Given the description of an element on the screen output the (x, y) to click on. 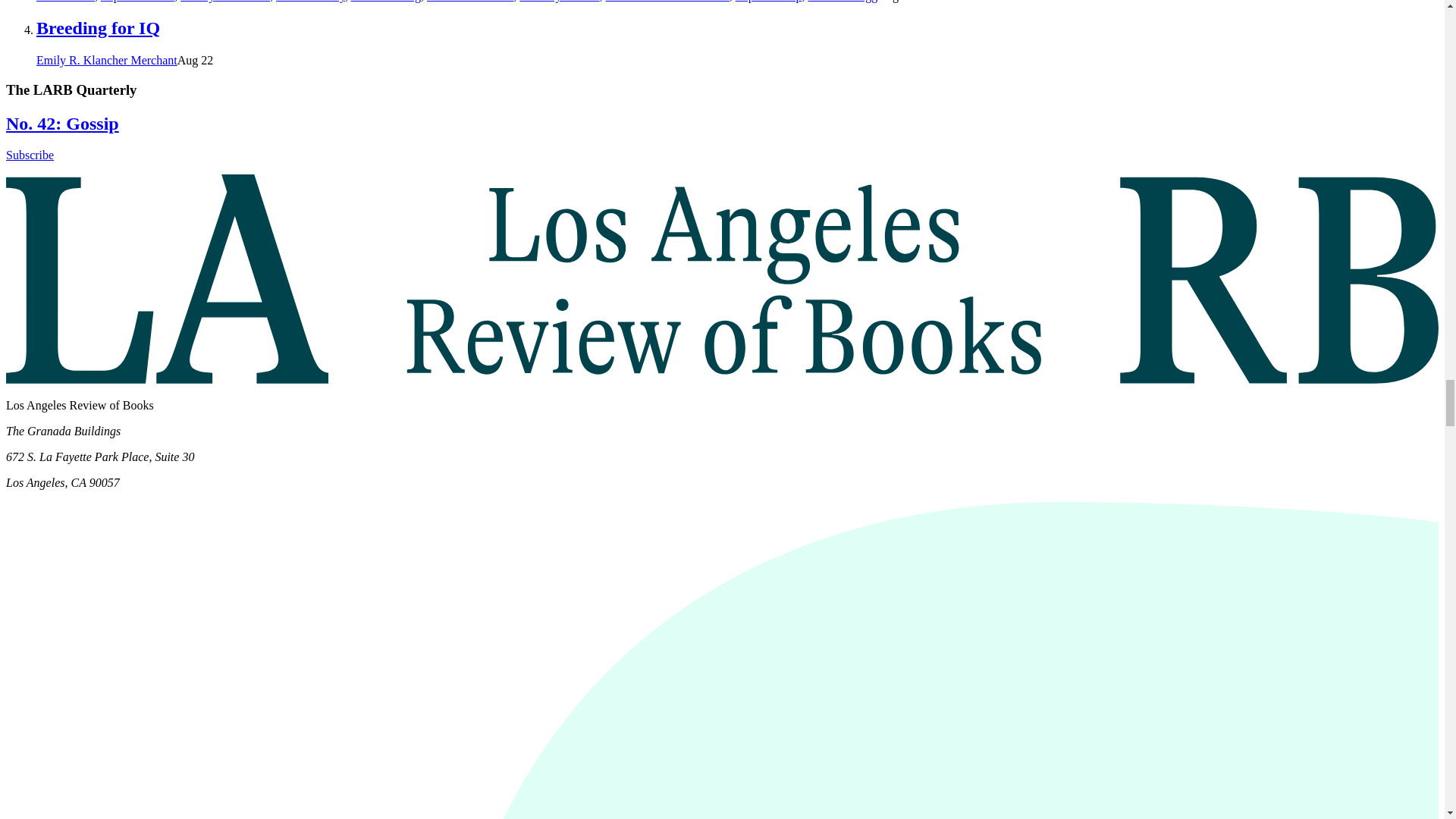
Sophia Stewart (137, 1)
Hillary Brenhouse (224, 1)
Jamie Hood (65, 1)
